Given the description of an element on the screen output the (x, y) to click on. 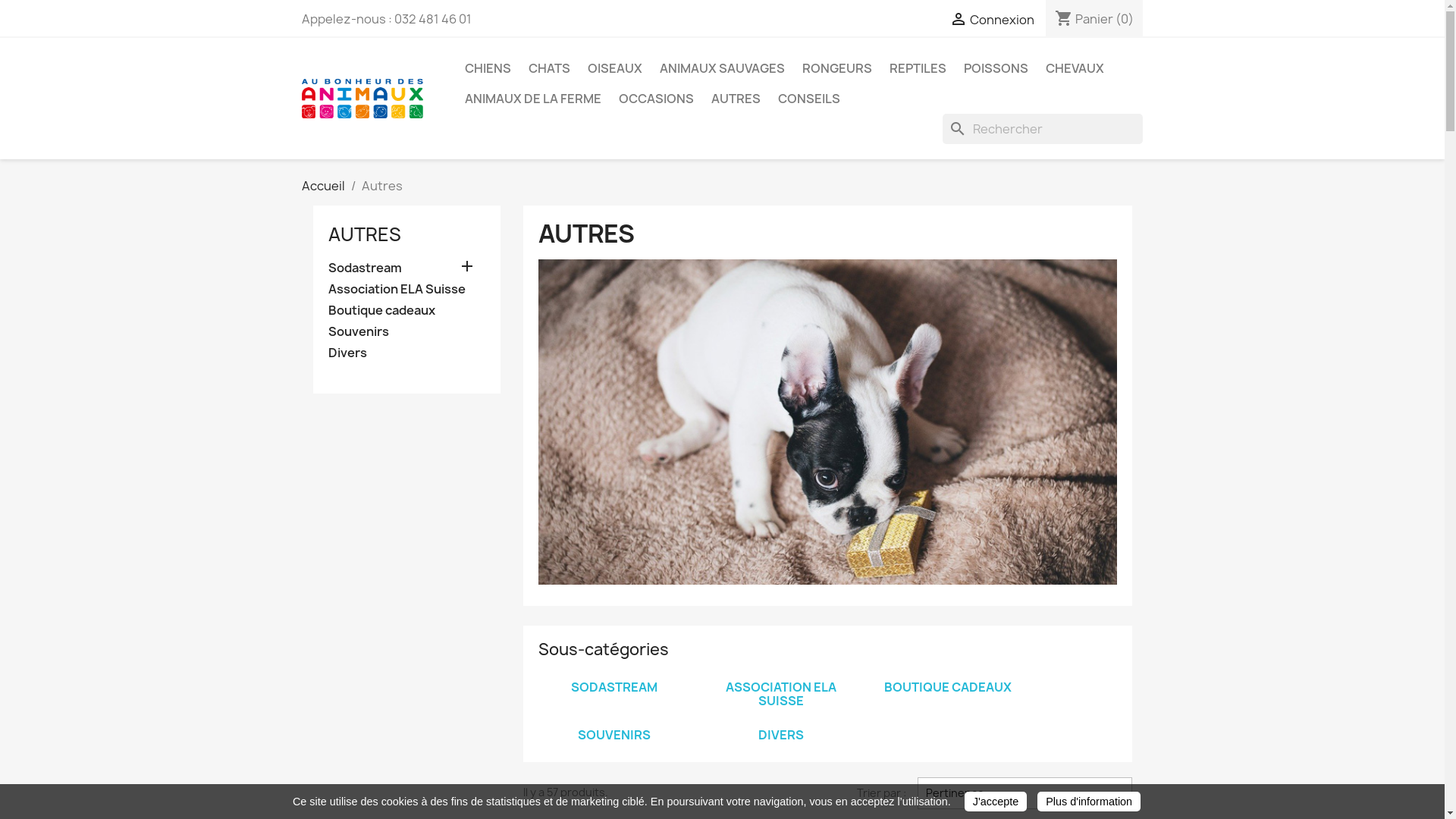
ANIMAUX SAUVAGES Element type: text (722, 68)
OISEAUX Element type: text (614, 68)
AUTRES Element type: text (735, 98)
POISSONS Element type: text (995, 68)
Accueil Element type: text (323, 185)
Souvenirs Element type: text (406, 332)
DIVERS Element type: text (780, 734)
BOUTIQUE CADEAUX Element type: text (947, 686)
CHIENS Element type: text (486, 68)
CHEVAUX Element type: text (1073, 68)
AUTRES Element type: text (363, 234)
Boutique cadeaux Element type: text (406, 311)
CONSEILS Element type: text (808, 98)
SOUVENIRS Element type: text (613, 734)
CHATS Element type: text (548, 68)
ASSOCIATION ELA SUISSE Element type: text (780, 693)
SODASTREAM Element type: text (614, 686)
Divers Element type: text (406, 353)
OCCASIONS Element type: text (656, 98)
RONGEURS Element type: text (836, 68)
REPTILES Element type: text (917, 68)
ANIMAUX DE LA FERME Element type: text (532, 98)
J'accepte Element type: text (995, 801)
Association ELA Suisse Element type: text (406, 289)
Plus d'information Element type: text (1088, 801)
Sodastream Element type: text (406, 268)
